Given the description of an element on the screen output the (x, y) to click on. 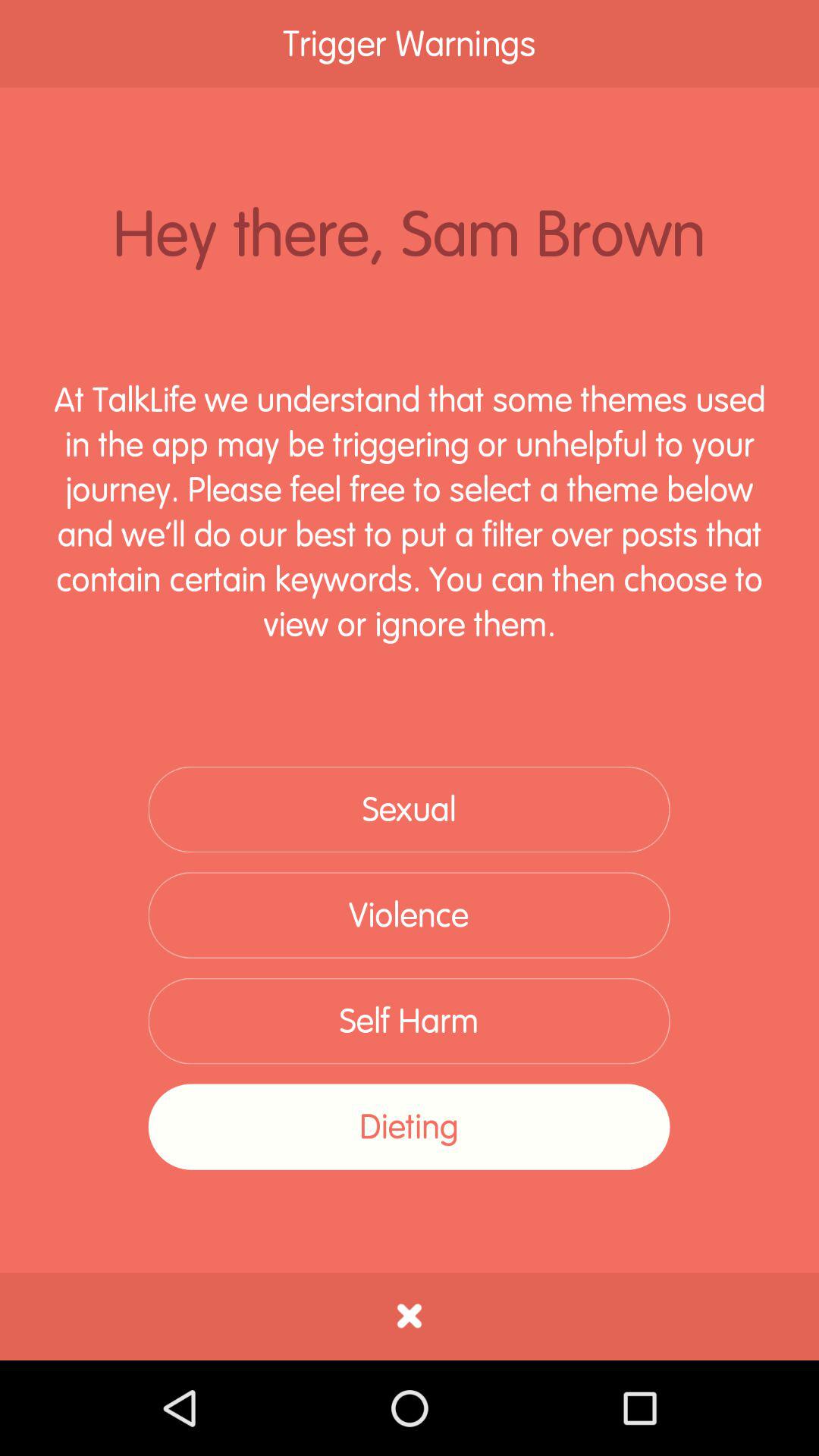
open the item above self harm item (408, 915)
